Given the description of an element on the screen output the (x, y) to click on. 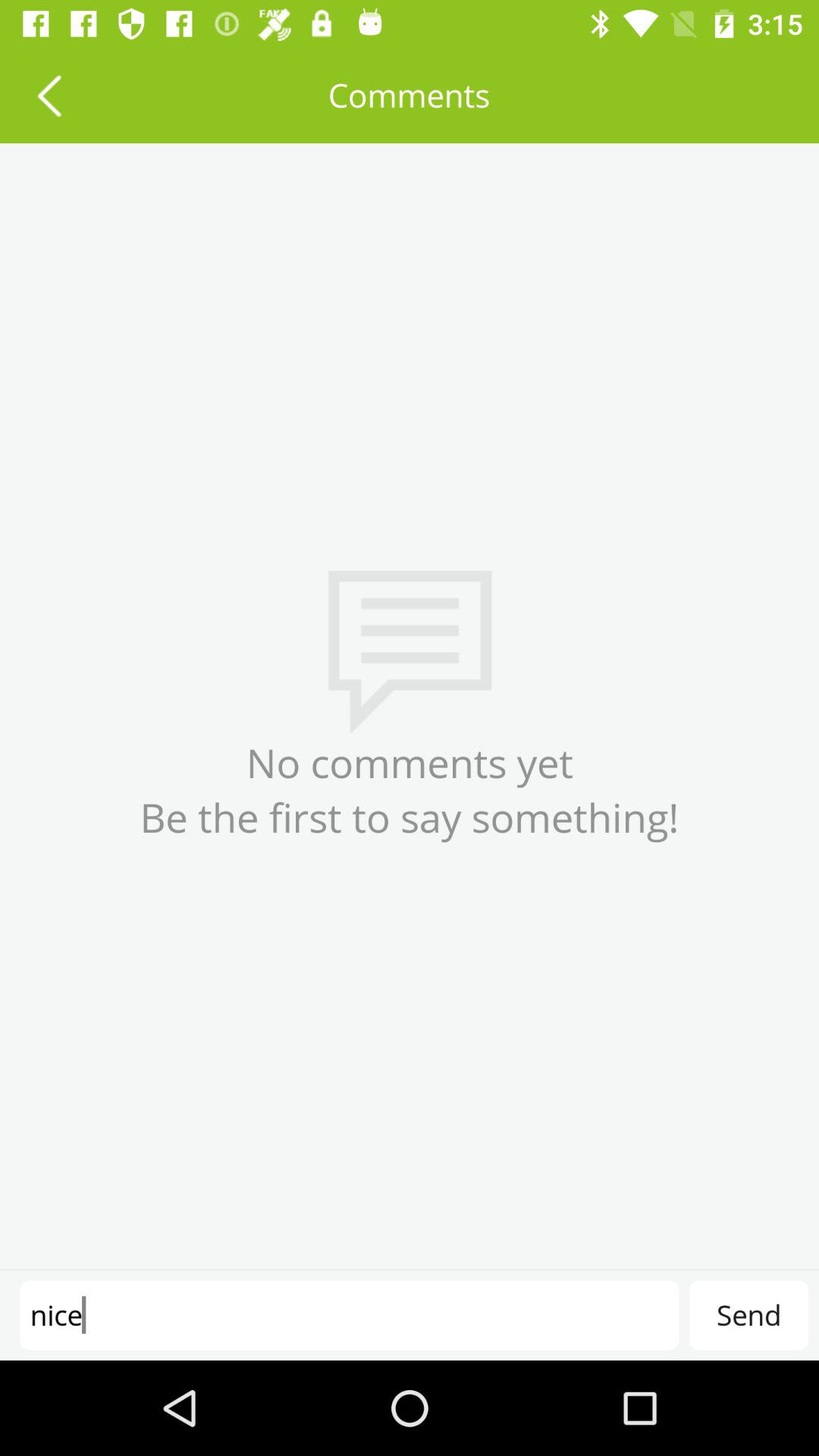
select the item next to send icon (349, 1315)
